Given the description of an element on the screen output the (x, y) to click on. 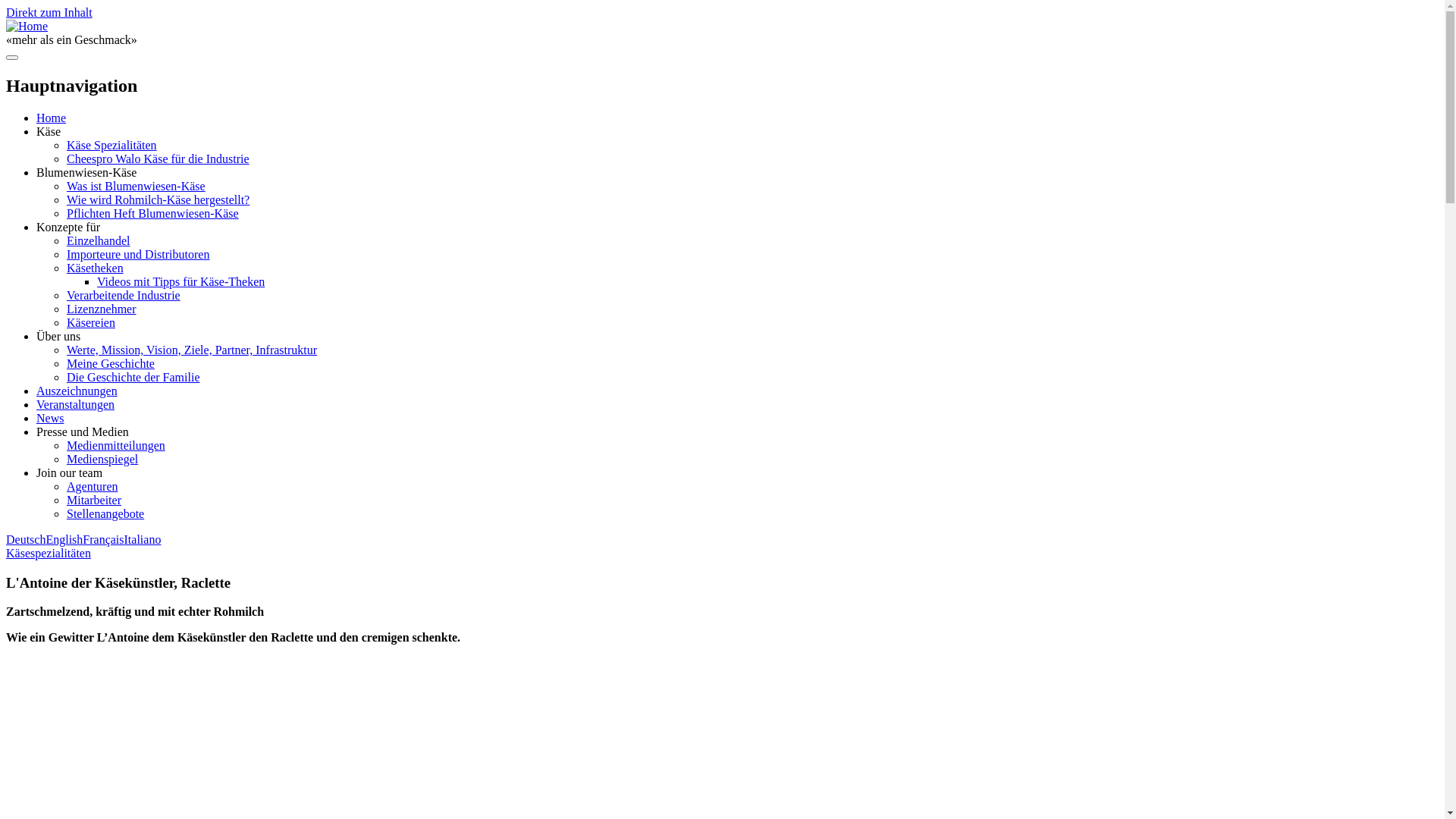
Werte, Mission, Vision, Ziele, Partner, Infrastruktur Element type: text (191, 349)
Direkt zum Inhalt Element type: text (49, 12)
Medienmitteilungen Element type: text (115, 445)
Deutsch Element type: text (25, 539)
Agenturen Element type: text (92, 486)
Italiano Element type: text (142, 539)
Stellenangebote Element type: text (105, 513)
Mitarbeiter Element type: text (93, 499)
Auszeichnungen Element type: text (76, 390)
Veranstaltungen Element type: text (75, 404)
Home Element type: hover (26, 25)
Importeure und Distributoren Element type: text (137, 253)
Meine Geschichte Element type: text (110, 363)
Medienspiegel Element type: text (102, 458)
Lizenznehmer Element type: text (101, 308)
Die Geschichte der Familie Element type: text (133, 376)
Einzelhandel Element type: text (98, 240)
Home Element type: text (50, 117)
English Element type: text (63, 539)
News Element type: text (49, 417)
Verarbeitende Industrie Element type: text (123, 294)
